Given the description of an element on the screen output the (x, y) to click on. 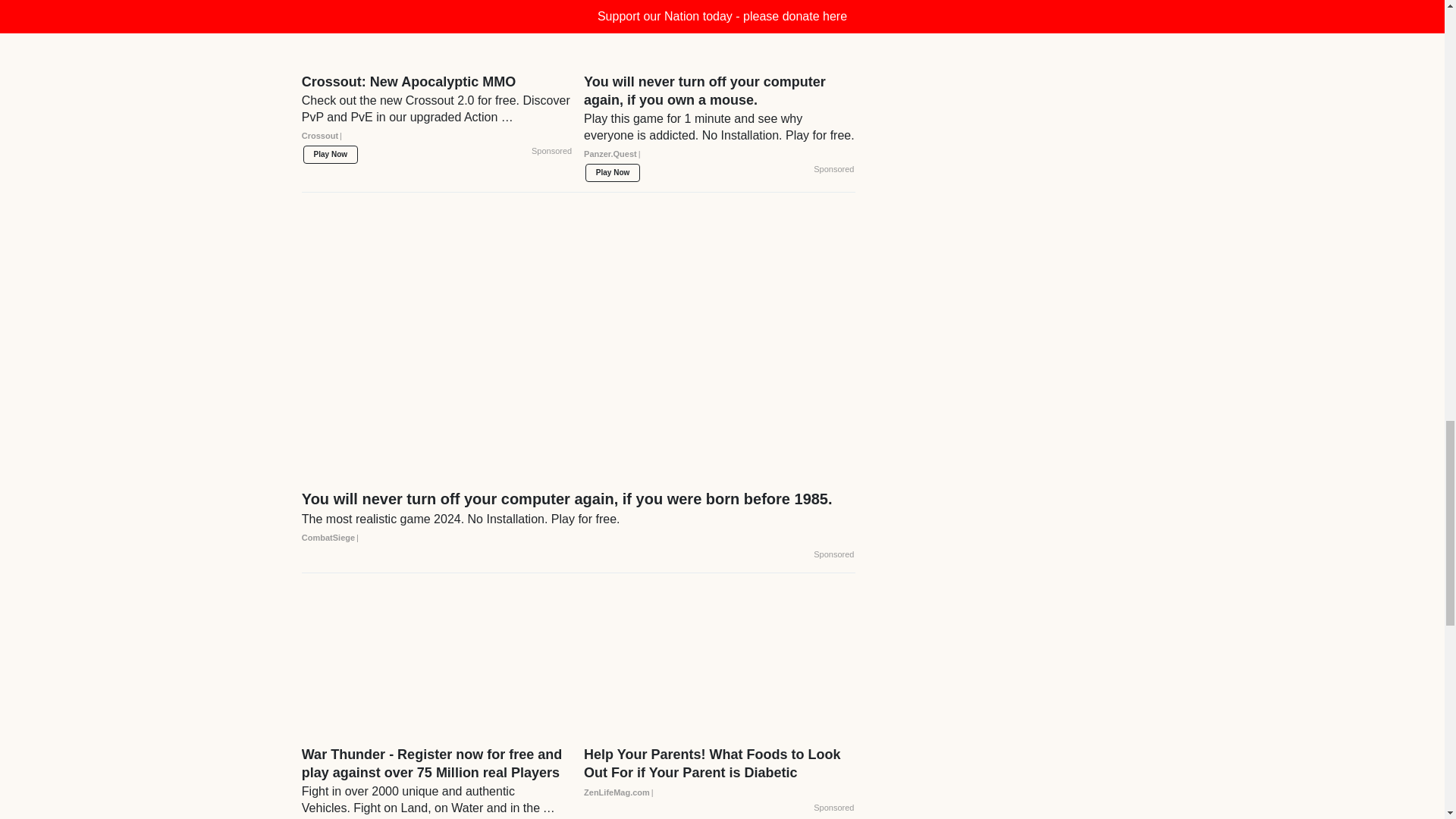
Sponsored (551, 151)
Play Now (612, 172)
Sponsored (833, 169)
Play Now (330, 154)
Crossout: New Apocalyptic MMO (436, 113)
